Given the description of an element on the screen output the (x, y) to click on. 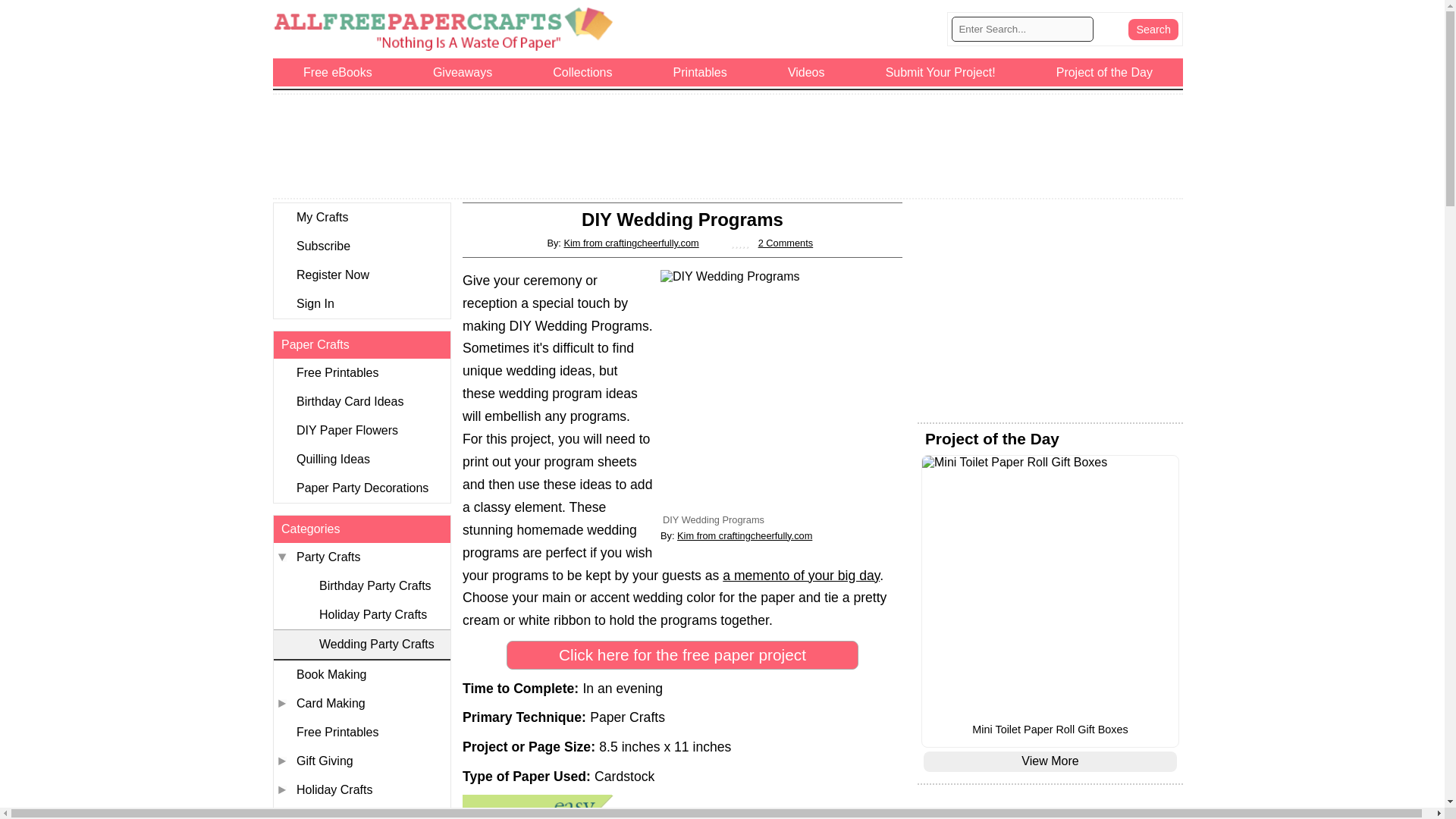
Register Now (361, 275)
DIY Wedding Programs (781, 390)
Subscribe (361, 246)
Sign In (361, 303)
Search (1152, 29)
My Crafts (361, 217)
